Given the description of an element on the screen output the (x, y) to click on. 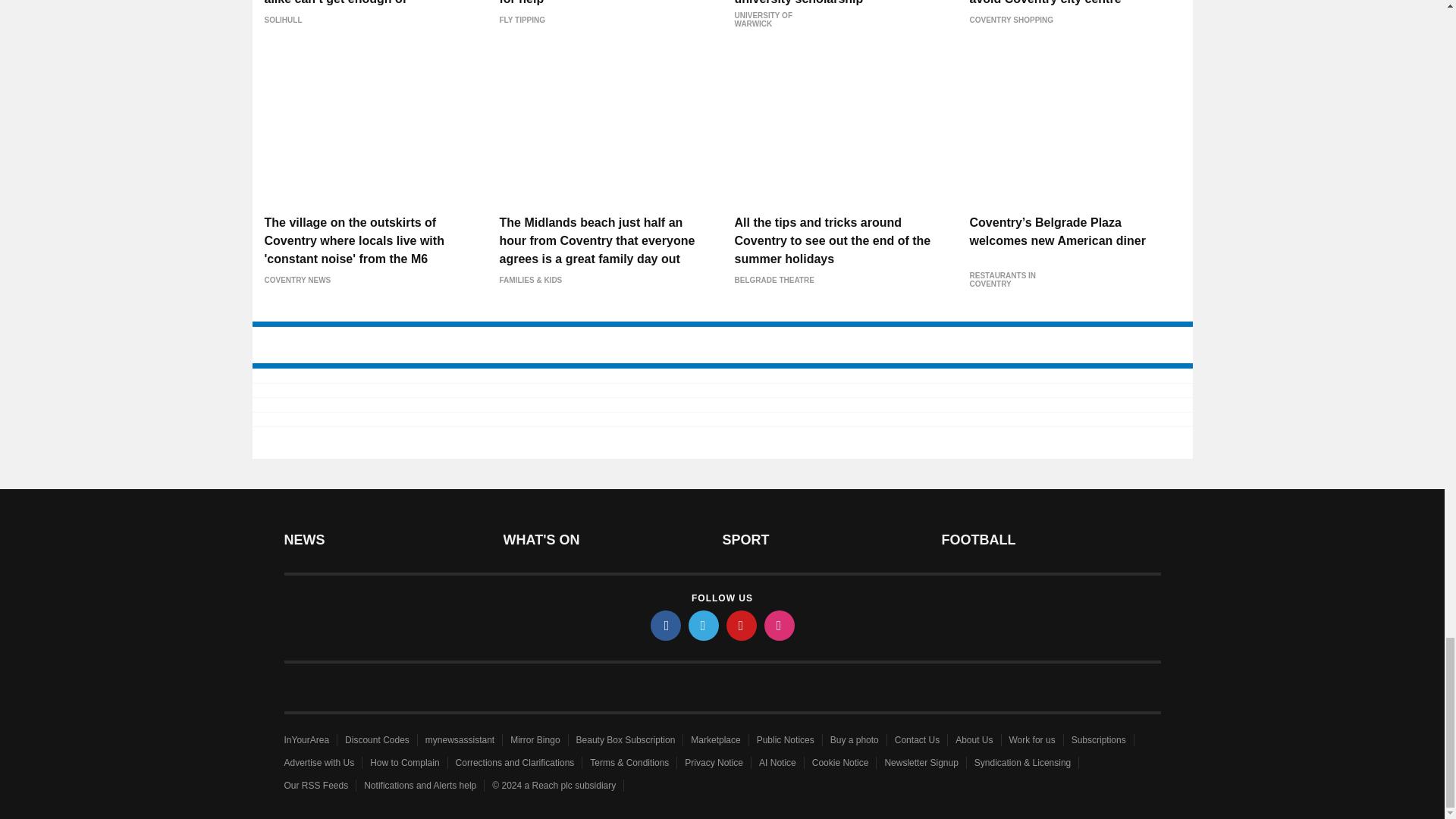
instagram (779, 625)
twitter (703, 625)
facebook (665, 625)
pinterest (741, 625)
